Given the description of an element on the screen output the (x, y) to click on. 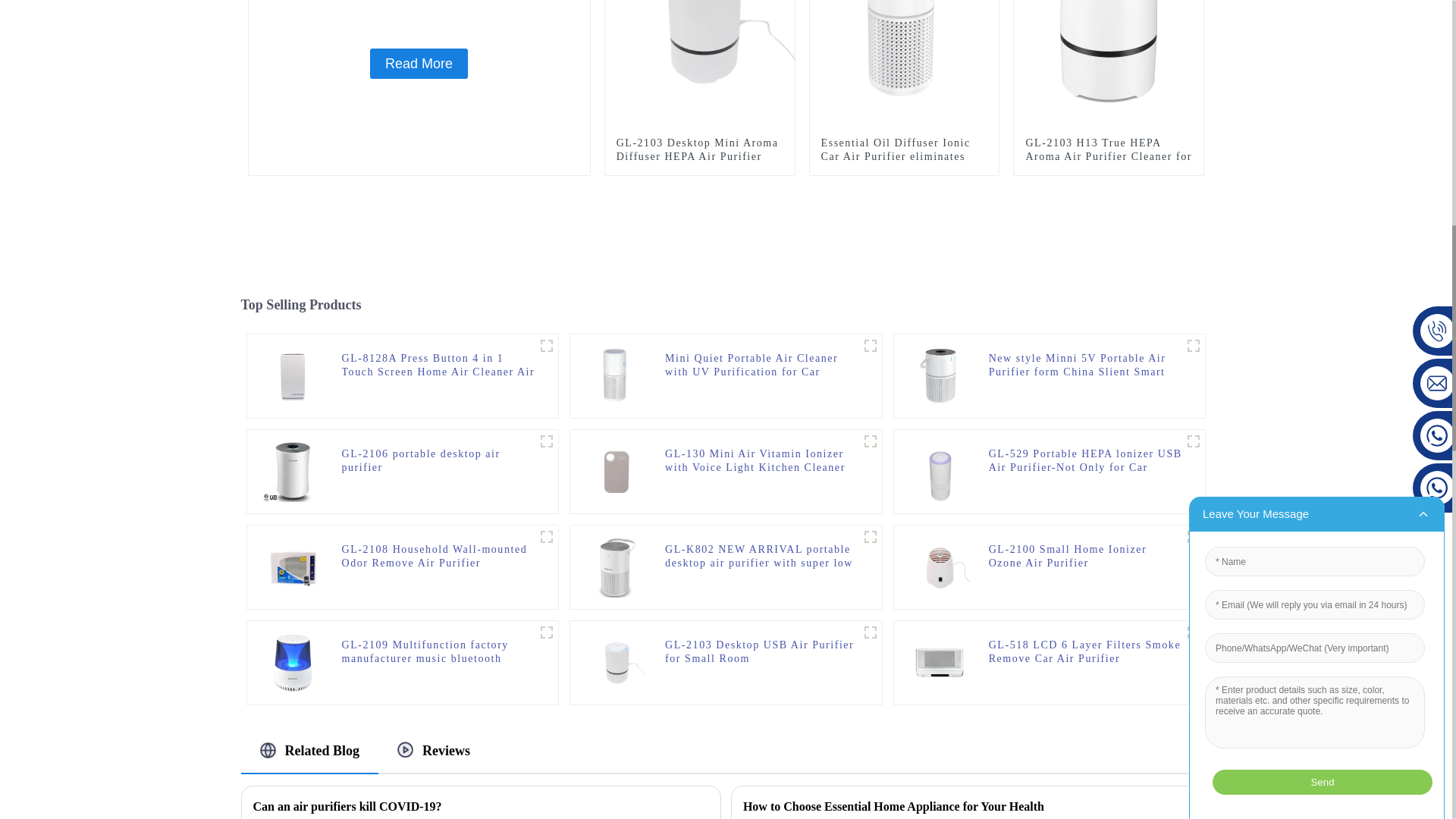
GL-2103 Desktop Mini Aroma Diffuser HEPA Air Purifier (699, 16)
